Given the description of an element on the screen output the (x, y) to click on. 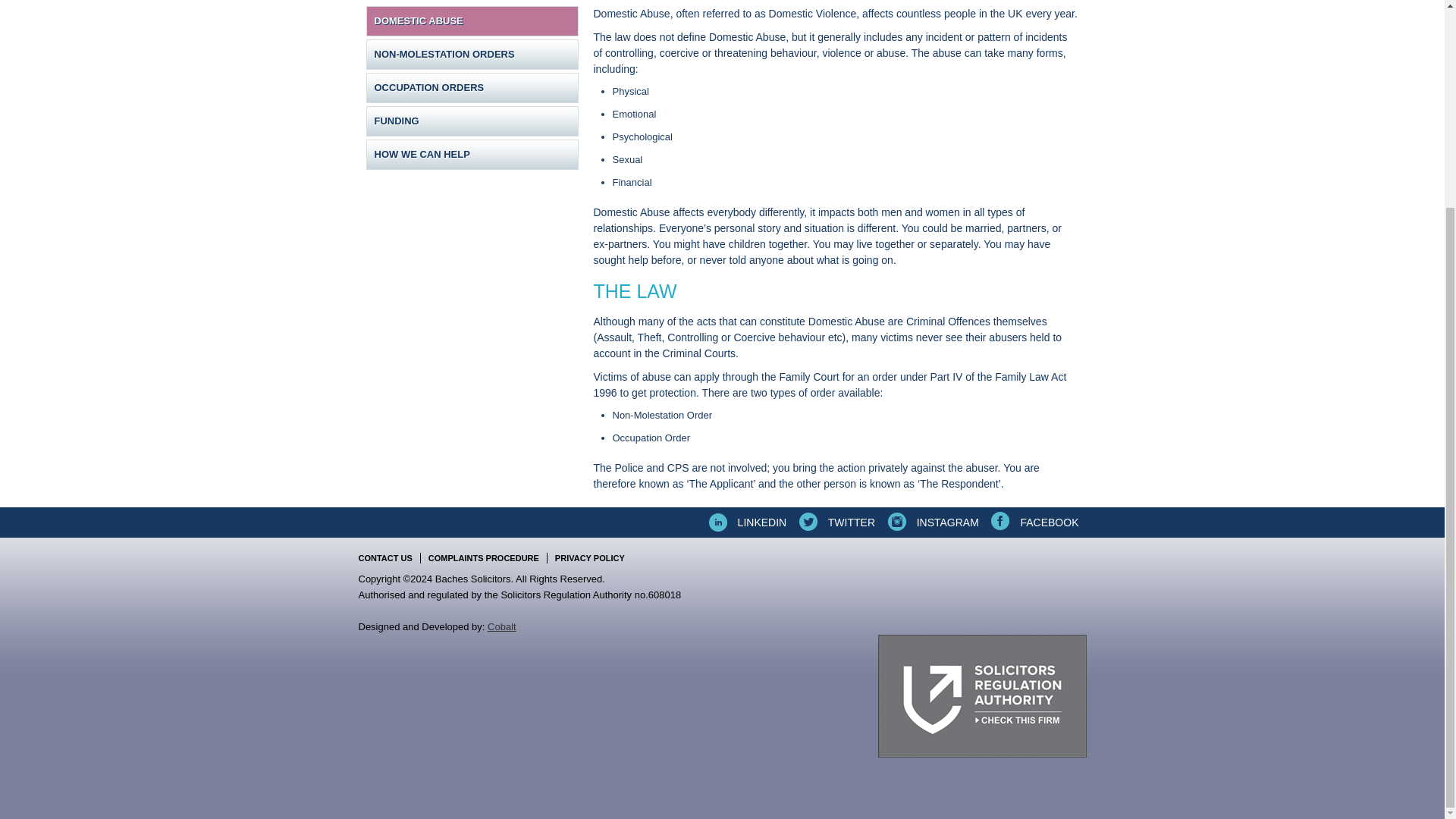
TWITTER (835, 521)
CONTACT US (388, 557)
facebook (1033, 521)
twitter (835, 521)
OCCUPATION ORDERS (471, 87)
instagram (931, 521)
LINKEDIN (746, 521)
COMPLAINTS PROCEDURE (483, 557)
Cobalt (501, 626)
HOW WE CAN HELP (471, 154)
linkedIn (746, 521)
NON-MOLESTATION ORDERS (471, 54)
FACEBOOK (1033, 521)
PRIVACY POLICY (589, 557)
DOMESTIC ABUSE (471, 20)
